Given the description of an element on the screen output the (x, y) to click on. 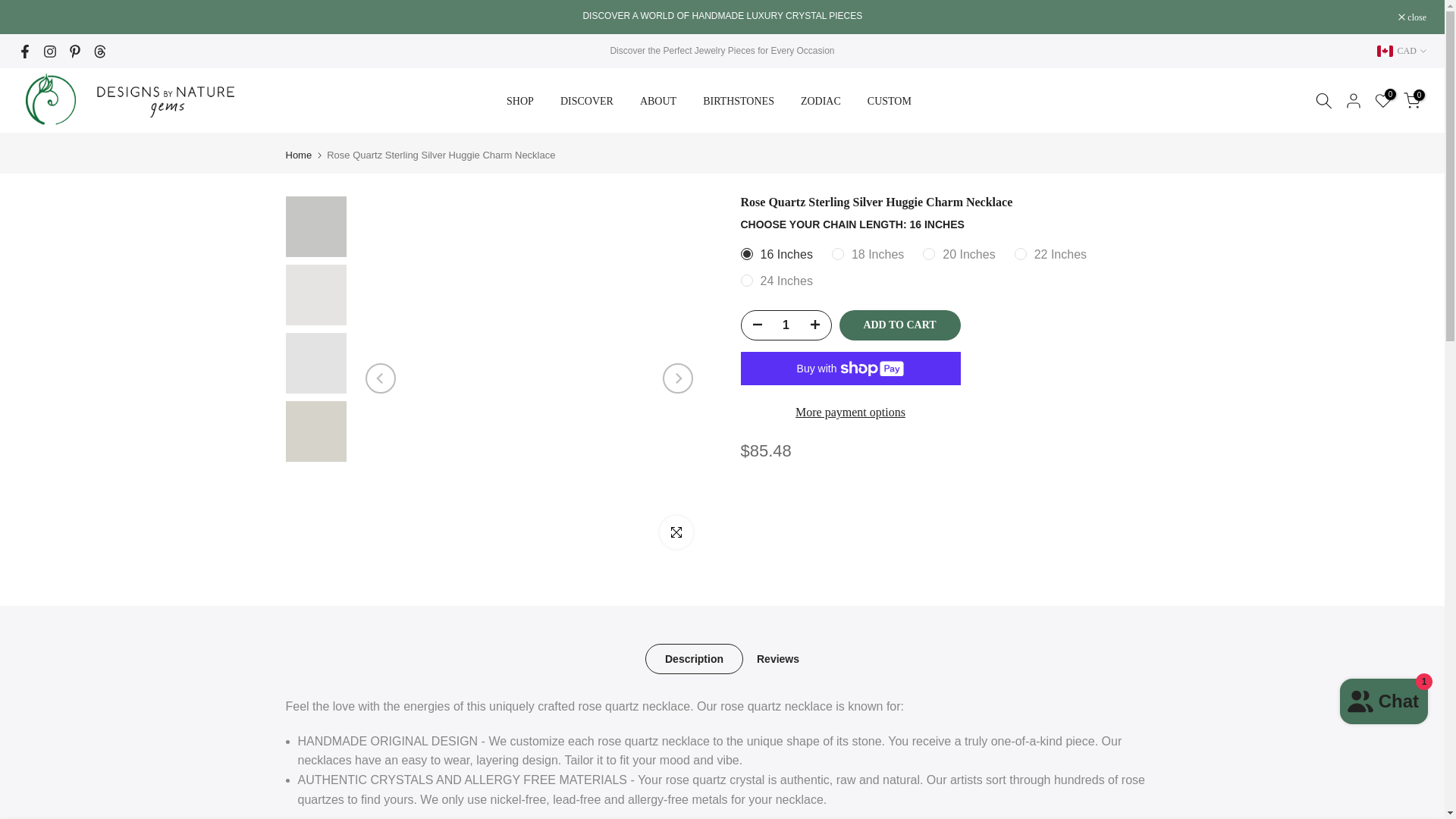
Shopify online store chat (1383, 703)
Follow on Threads (99, 51)
Follow on Pinterest (74, 51)
1 (786, 325)
Skip to content (10, 7)
Follow on Facebook (24, 51)
CAD (1401, 50)
close (1411, 16)
Follow on Instagram (49, 51)
